Given the description of an element on the screen output the (x, y) to click on. 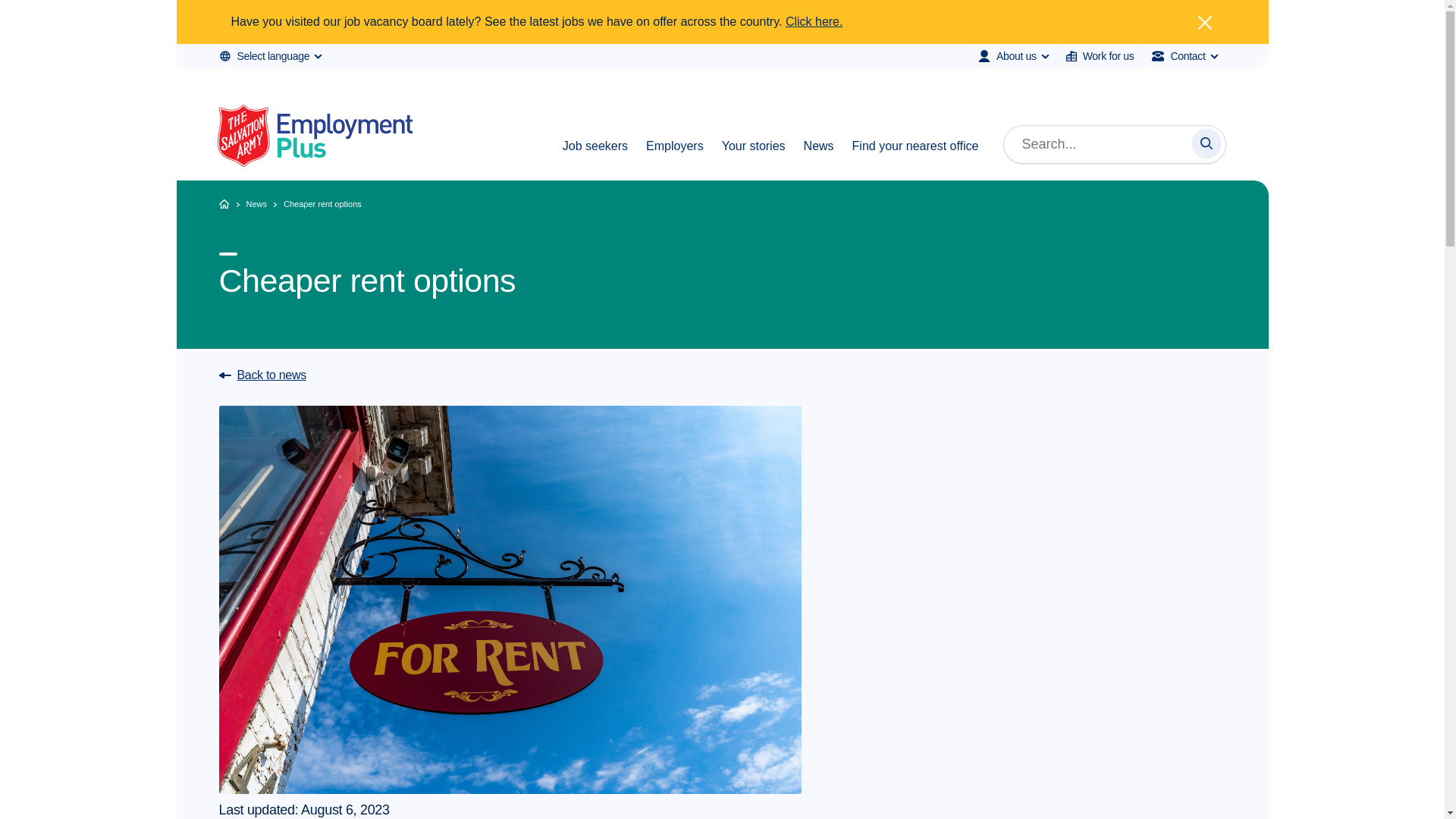
Employers (674, 157)
Your stories (754, 157)
Job seekers (594, 157)
Salvation Army Employment Plus (314, 138)
Employers (674, 157)
Search Employment Plus (1206, 143)
Find your nearest office (914, 157)
Click here. (814, 21)
News (818, 157)
Salvation Army Employment Plus (314, 138)
Job seekers (594, 157)
